Given the description of an element on the screen output the (x, y) to click on. 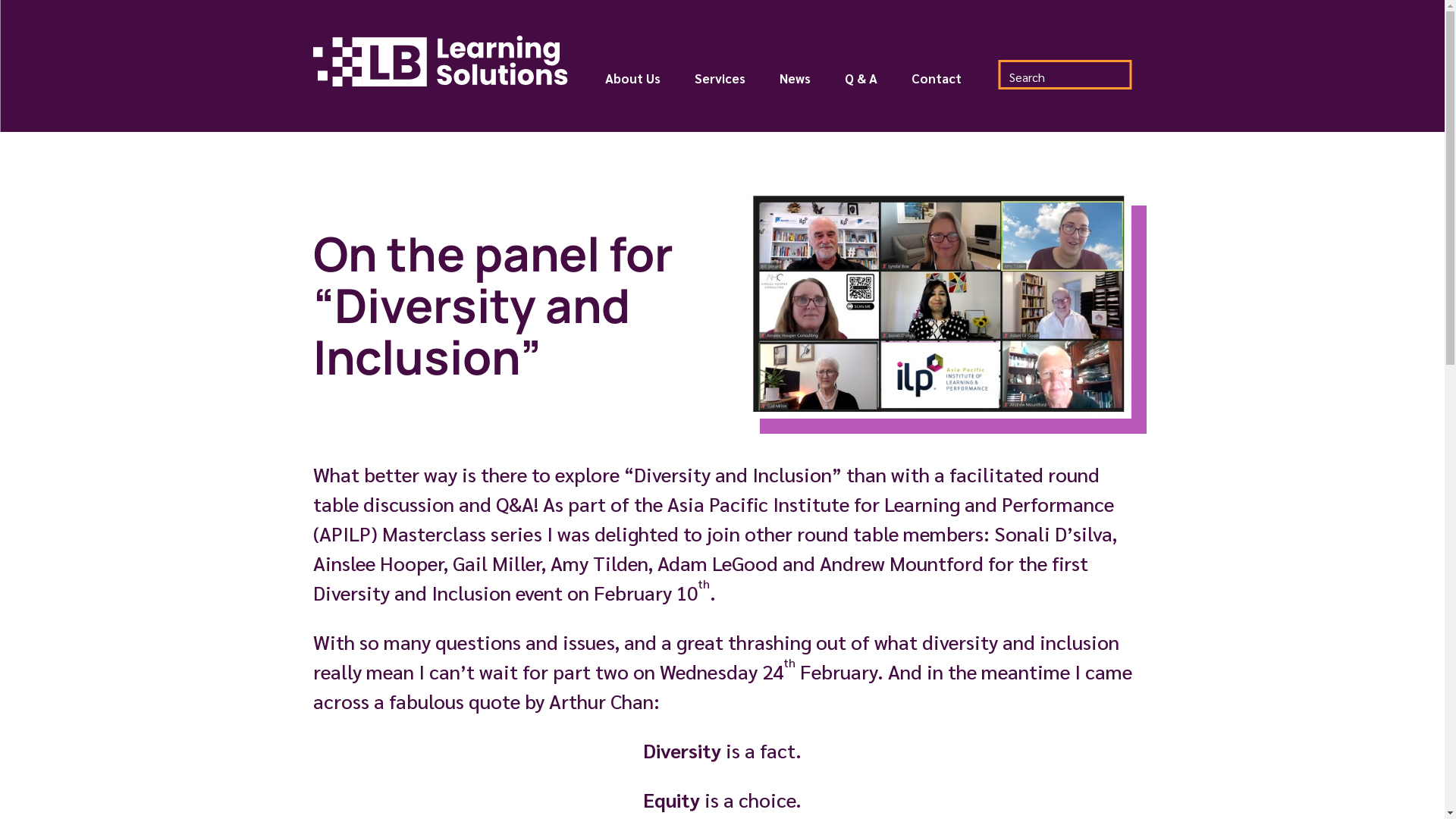
On the panel for diversity and inclusion Element type: hover (937, 304)
Skip to content Element type: text (0, 0)
Contact Element type: text (936, 85)
Search Element type: text (23, 14)
LBLS_Logo_fixed3 Element type: hover (439, 60)
Q & A Element type: text (860, 85)
Services Element type: text (719, 85)
About Us Element type: text (632, 85)
News Element type: text (794, 85)
